Given the description of an element on the screen output the (x, y) to click on. 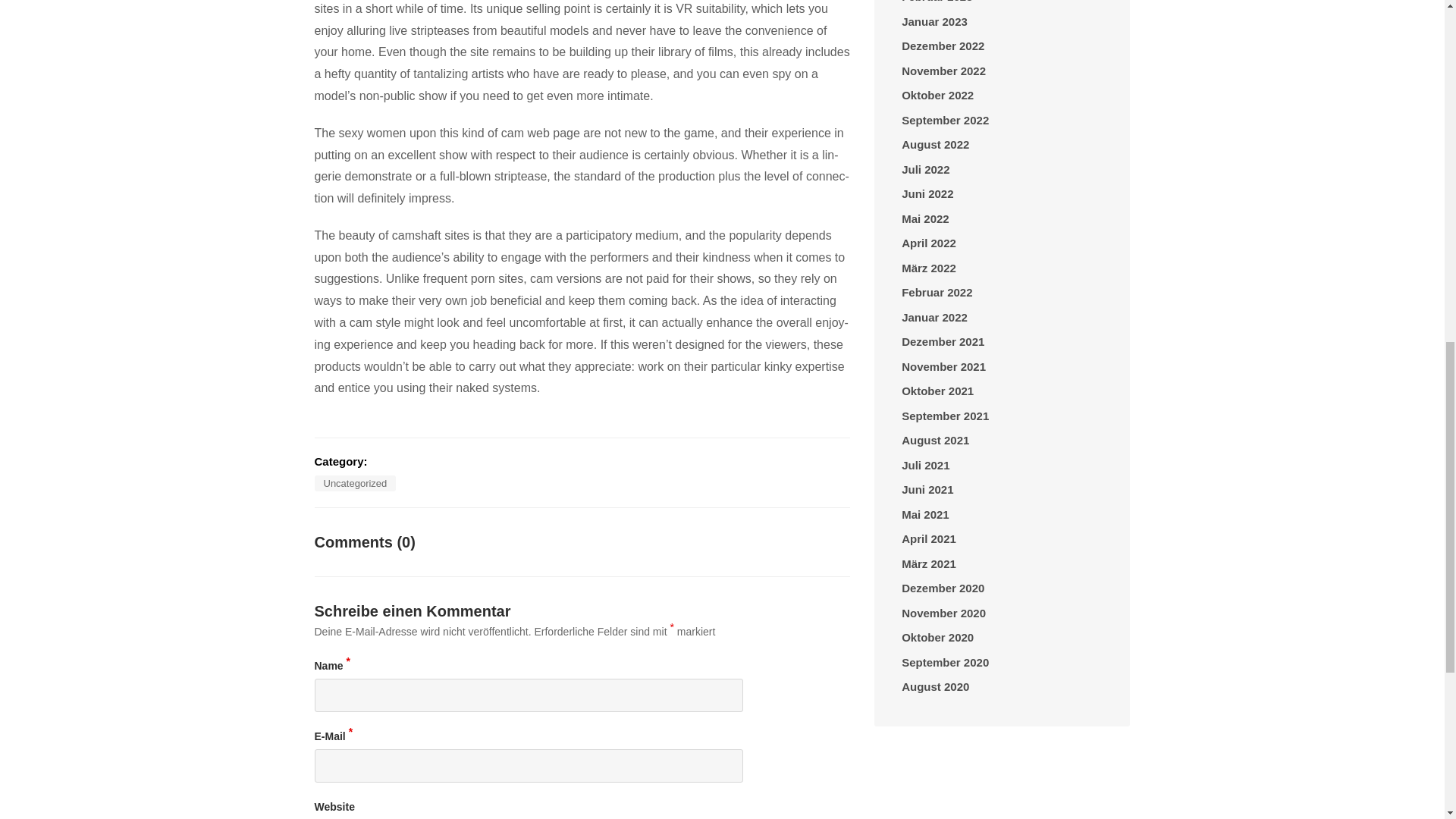
August 2022 (935, 144)
Uncategorized (355, 483)
Oktober 2022 (937, 95)
Februar 2023 (936, 2)
Dezember 2022 (942, 46)
November 2022 (943, 71)
Juli 2022 (925, 170)
Juni 2022 (927, 194)
Januar 2023 (934, 22)
September 2022 (944, 120)
